Given the description of an element on the screen output the (x, y) to click on. 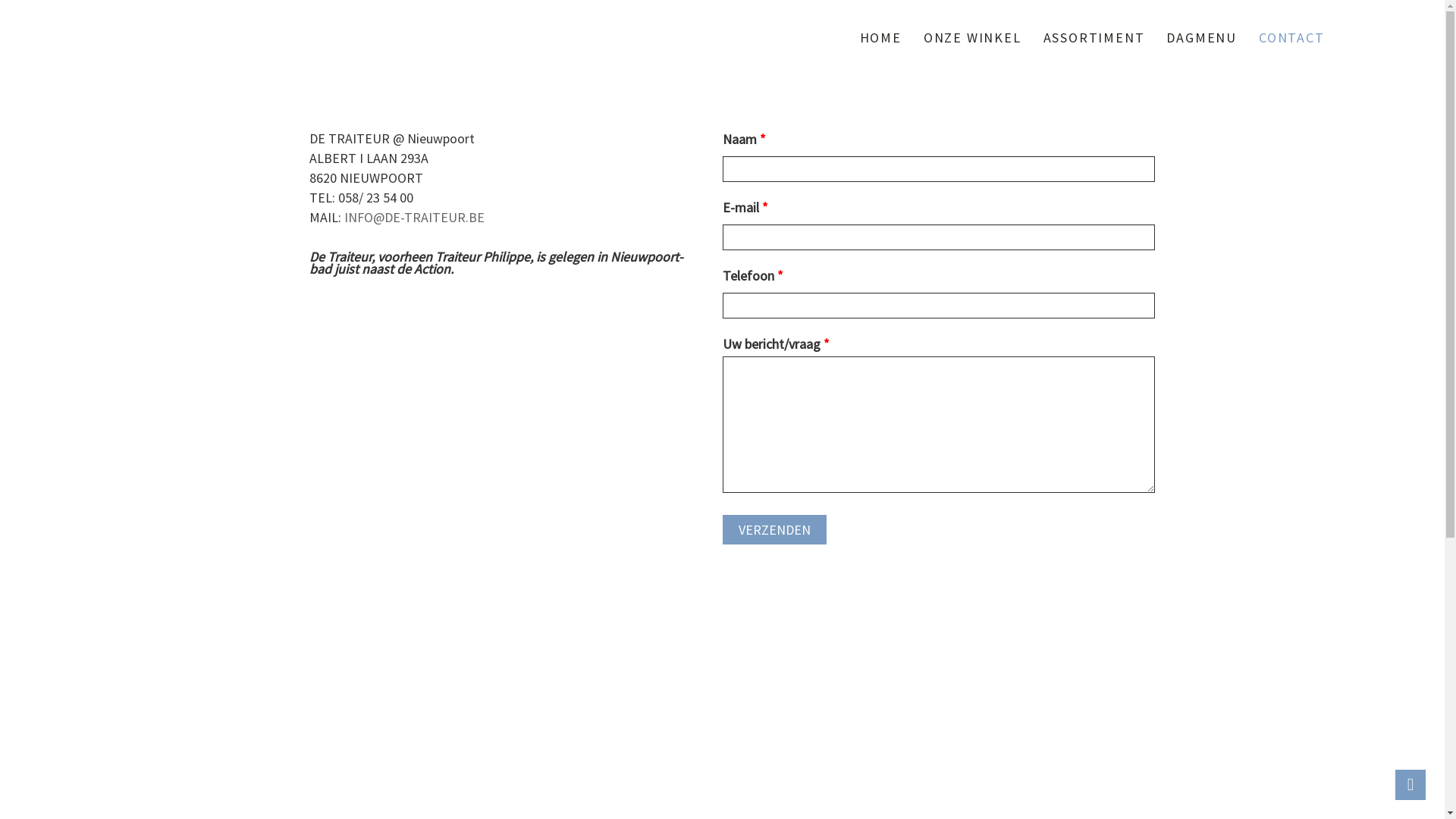
Go to Top Element type: hover (1410, 784)
ONZE WINKEL Element type: text (972, 37)
CONTACT Element type: text (1291, 37)
ASSORTIMENT Element type: text (1094, 37)
INFO@DE-TRAITEUR.BE Element type: text (414, 216)
HOME Element type: text (880, 37)
Verzenden Element type: text (773, 529)
DAGMENU Element type: text (1201, 37)
